Given the description of an element on the screen output the (x, y) to click on. 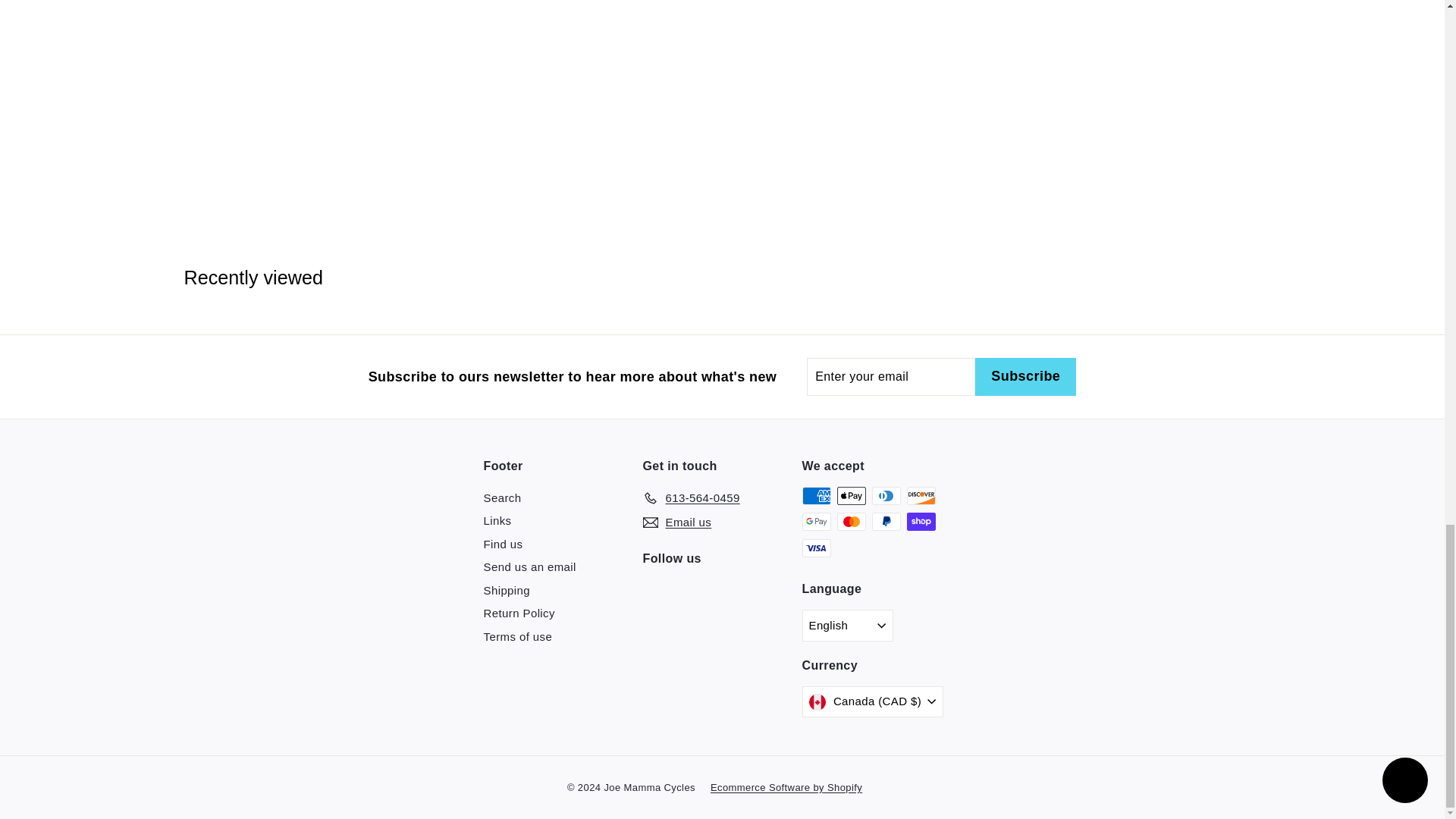
Discover (921, 495)
American Express (816, 495)
Google Pay (816, 521)
Mastercard (851, 521)
Diners Club (886, 495)
PayPal (886, 521)
Apple Pay (851, 495)
